Given the description of an element on the screen output the (x, y) to click on. 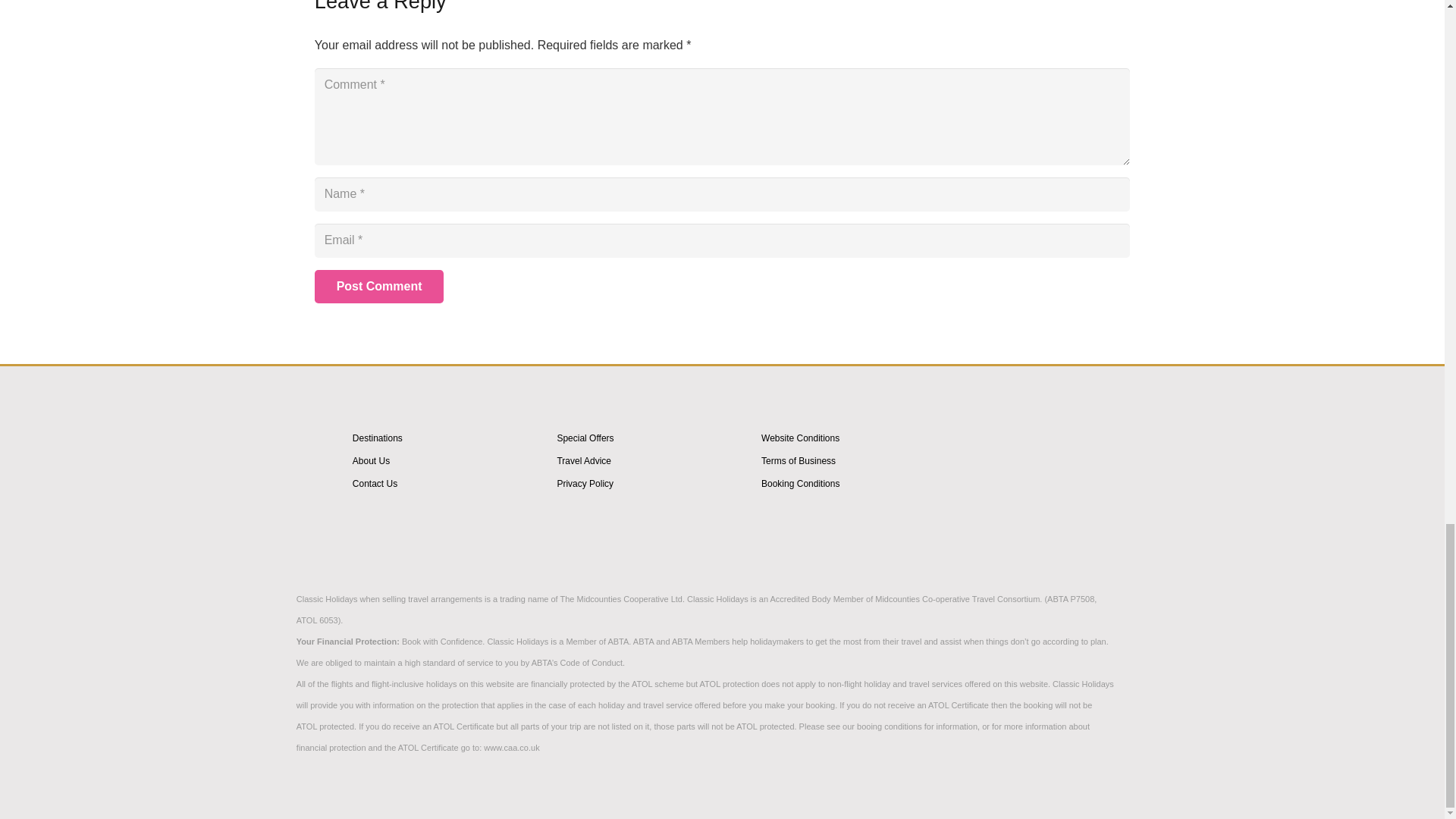
Post Comment (379, 286)
Destinations (377, 438)
About Us (371, 460)
Contact Us (374, 483)
Why you should add a Cairo stay to your Nile cruise holiday (1012, 482)
